Given the description of an element on the screen output the (x, y) to click on. 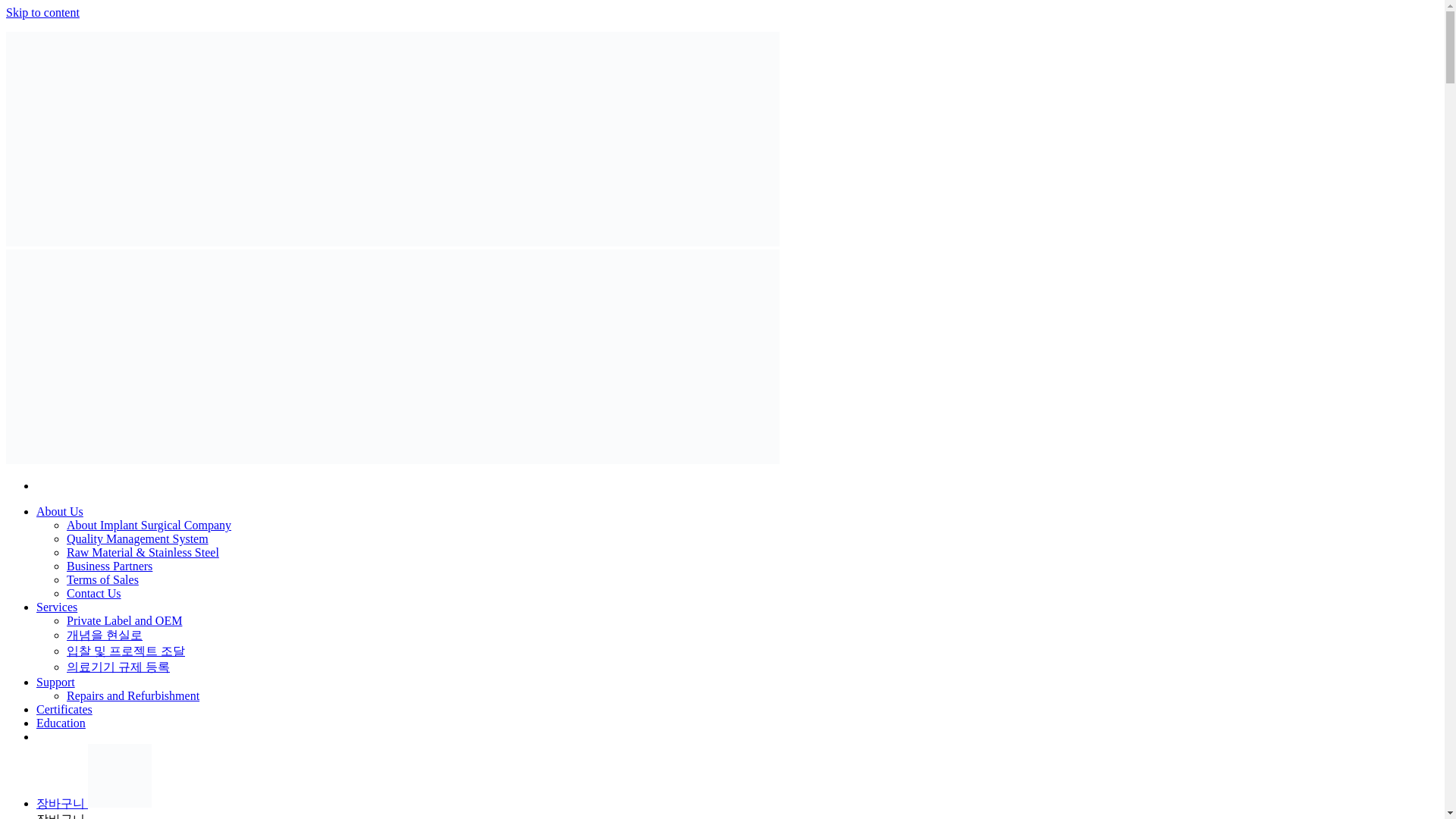
Private Label and OEM (124, 620)
About Us (59, 511)
Terms of Sales (102, 579)
Contact Us (93, 593)
Repairs and Refurbishment (132, 695)
About Implant Surgical Company (148, 524)
Certificates (64, 708)
Skip to content (42, 11)
Education (60, 722)
Services (56, 606)
Quality Management System (137, 538)
Support (55, 681)
Business Partners (109, 565)
